Given the description of an element on the screen output the (x, y) to click on. 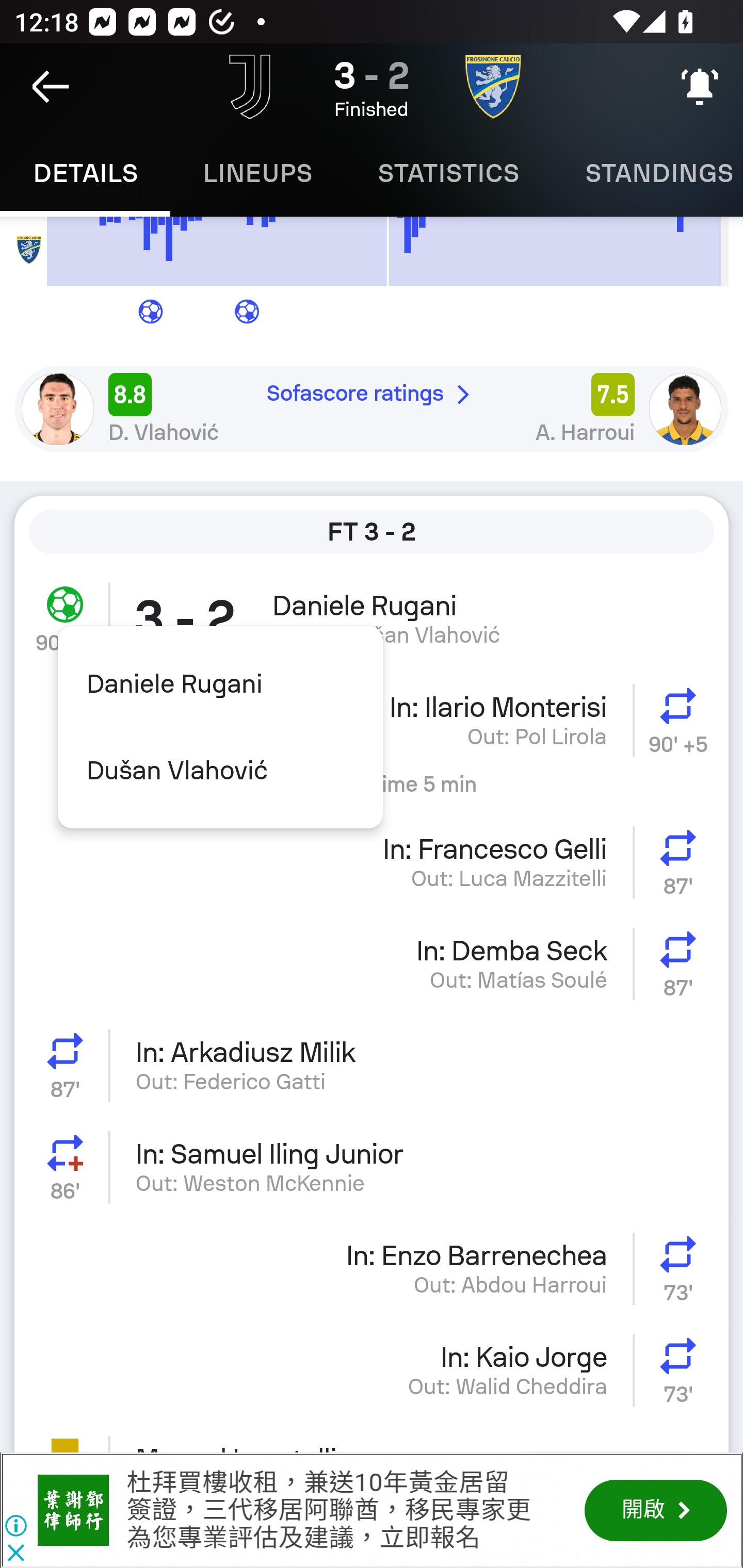
Daniele Rugani (219, 684)
Dušan Vlahović (219, 770)
